Given the description of an element on the screen output the (x, y) to click on. 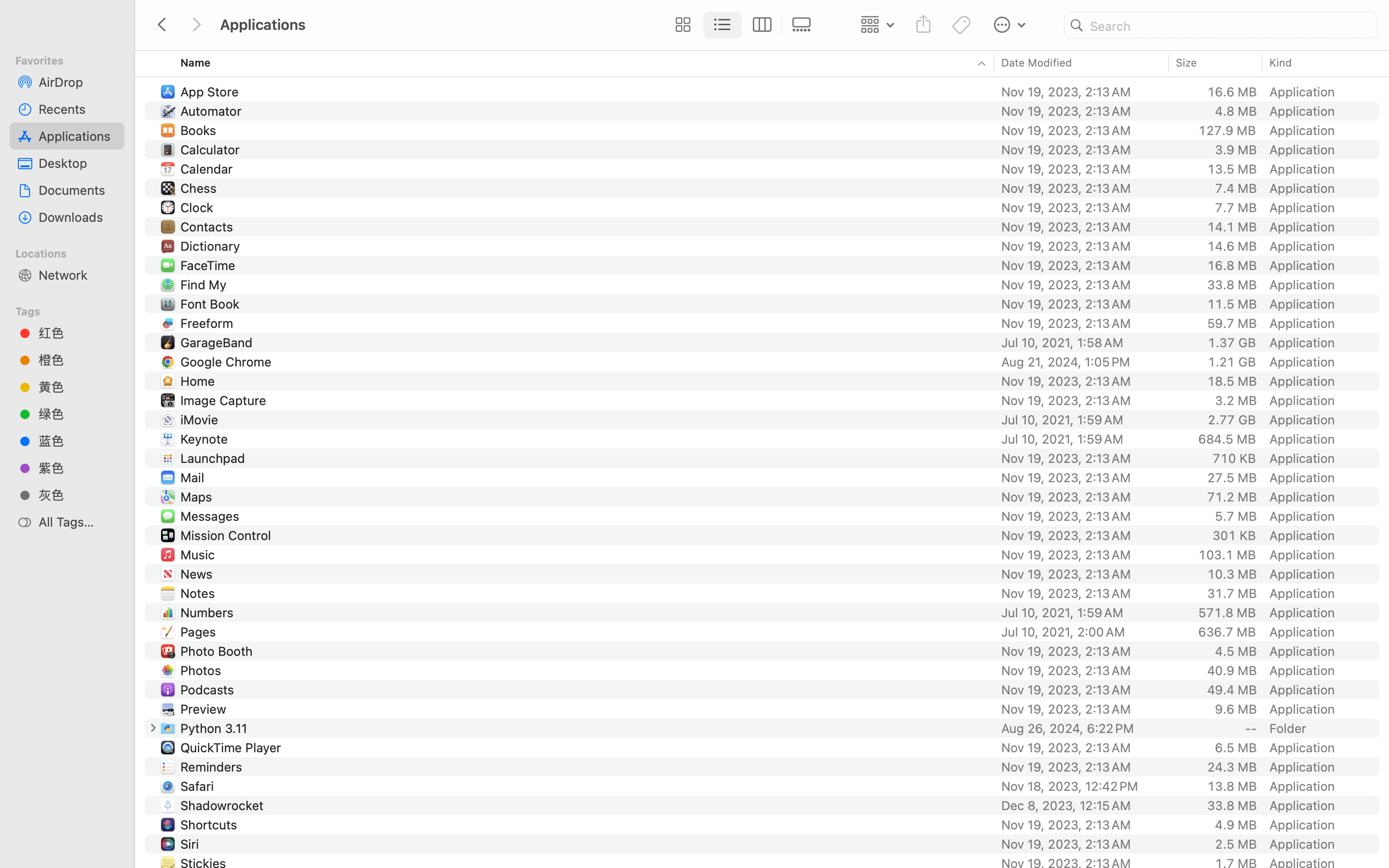
Desktop Element type: AXStaticText (77, 162)
Mission Control Element type: AXTextField (227, 534)
1.37 GB Element type: AXStaticText (1231, 342)
40.9 MB Element type: AXStaticText (1231, 670)
灰色 Element type: AXStaticText (77, 494)
